Given the description of an element on the screen output the (x, y) to click on. 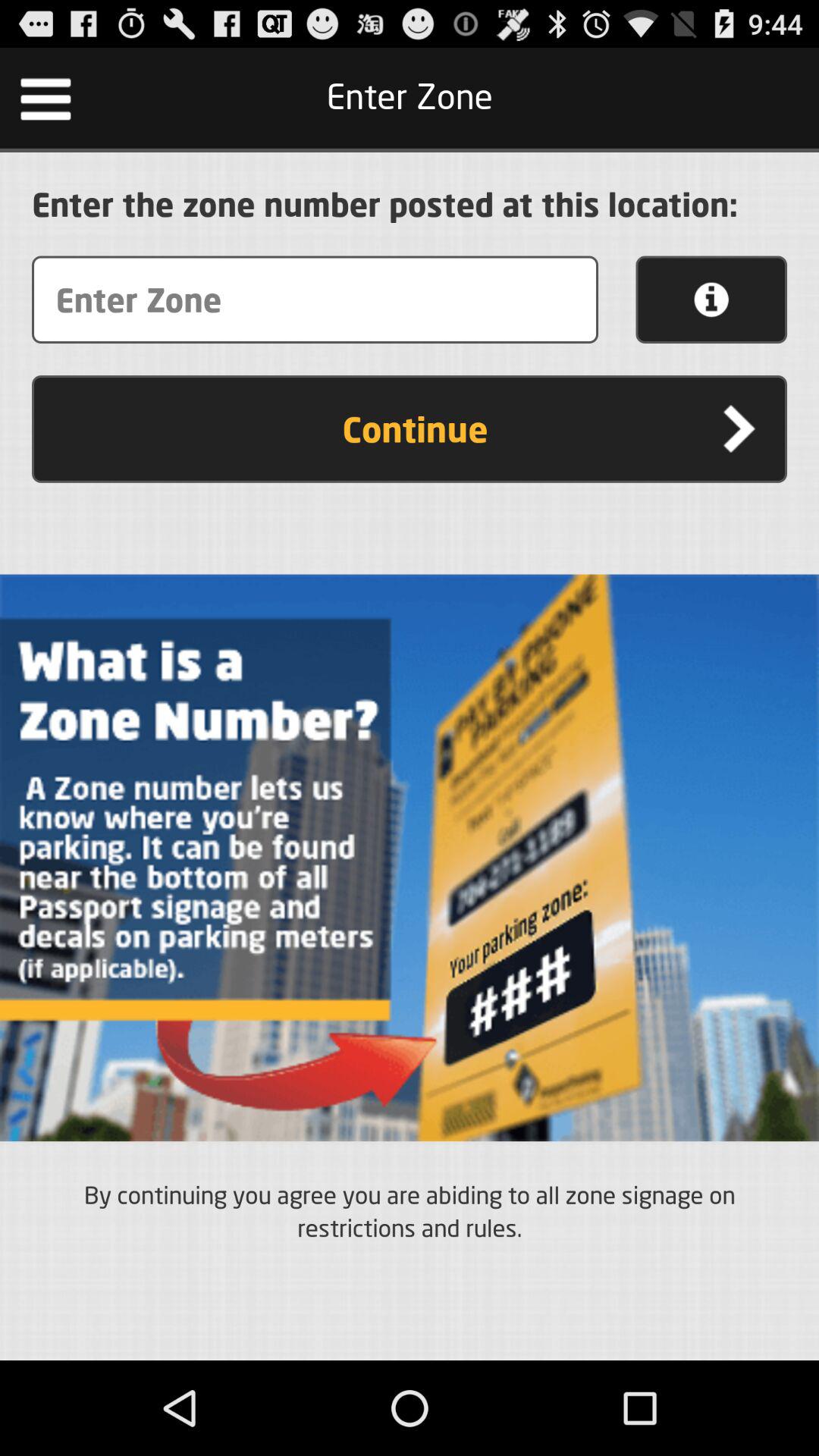
open the continue (409, 428)
